Given the description of an element on the screen output the (x, y) to click on. 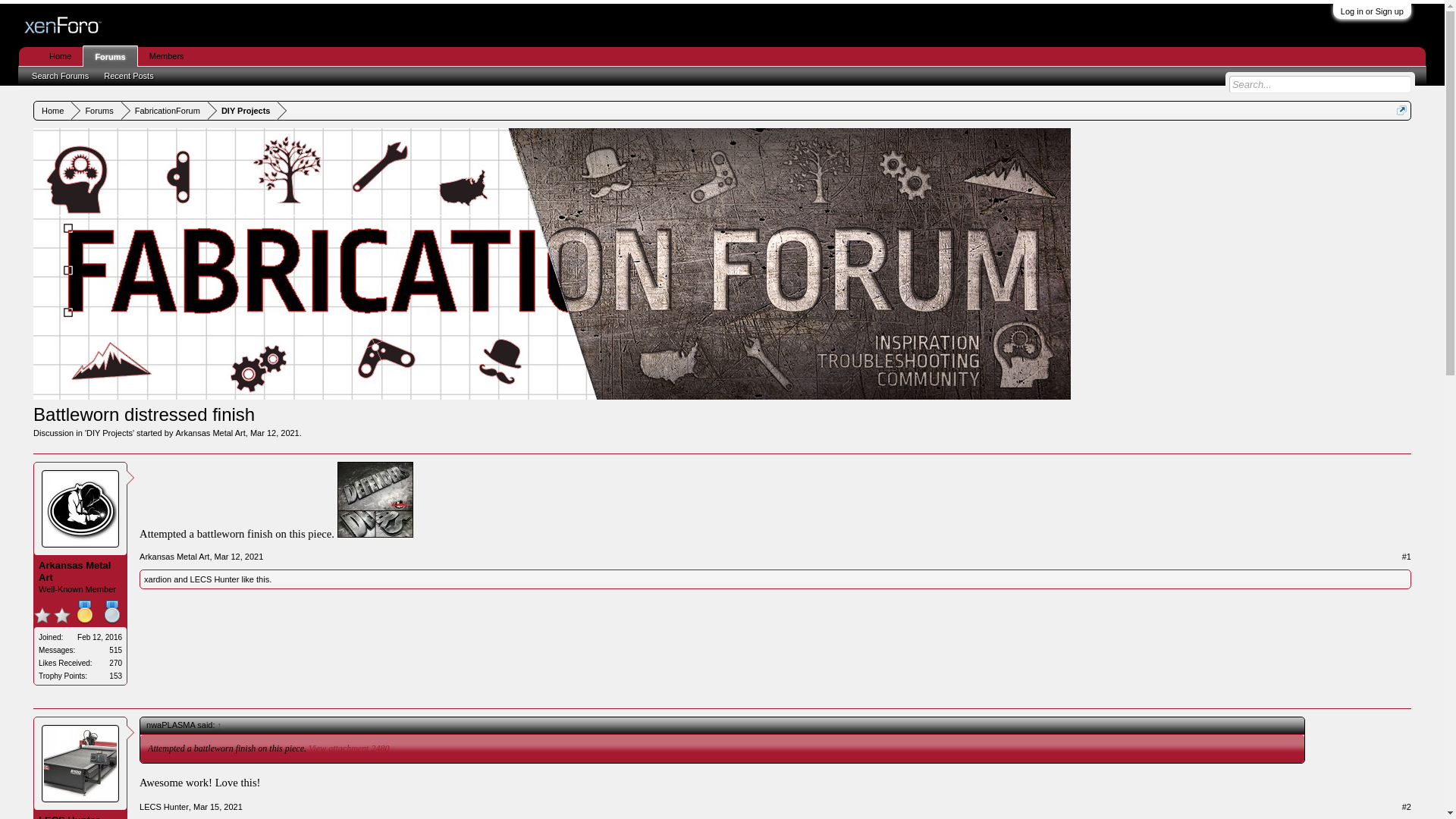
View attachment 2480 (348, 747)
Arkansas Metal Art (174, 556)
Mar 12, 2021 (274, 432)
Arkansas Metal Art (209, 432)
Home (52, 110)
LECS Hunter (215, 578)
515 (115, 650)
LECS Hunter (164, 806)
Mar 12, 2021 (238, 556)
Mar 15, 2021 (218, 806)
